Given the description of an element on the screen output the (x, y) to click on. 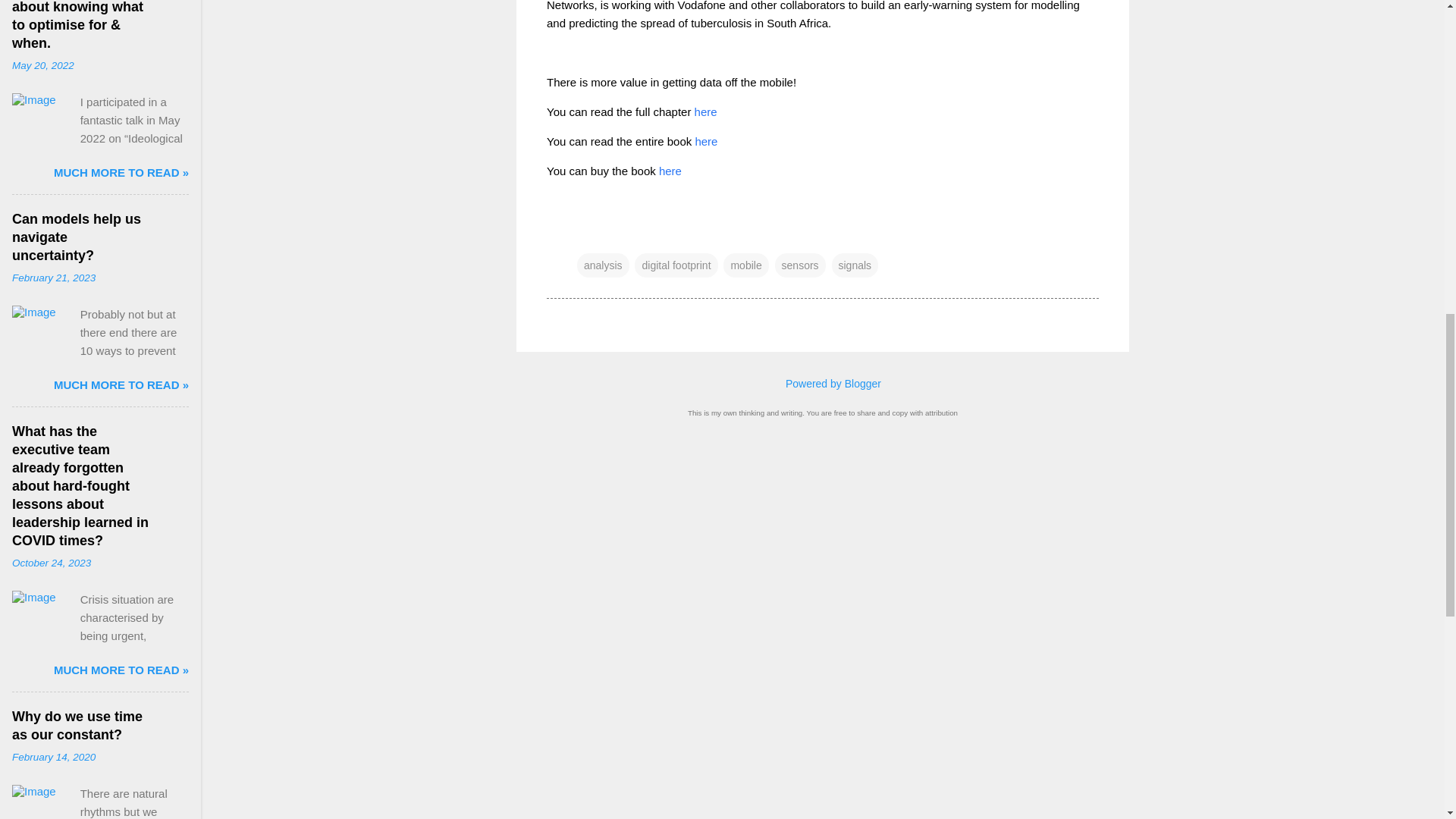
analysis (602, 265)
signals (854, 265)
Email Post (585, 234)
mobile (745, 265)
here (705, 141)
digital footprint (675, 265)
February 21, 2023 (53, 277)
Powered by Blogger (822, 383)
here (705, 110)
Can models help us navigate uncertainty? (76, 236)
sensors (799, 265)
here (670, 169)
May 20, 2022 (42, 65)
